Given the description of an element on the screen output the (x, y) to click on. 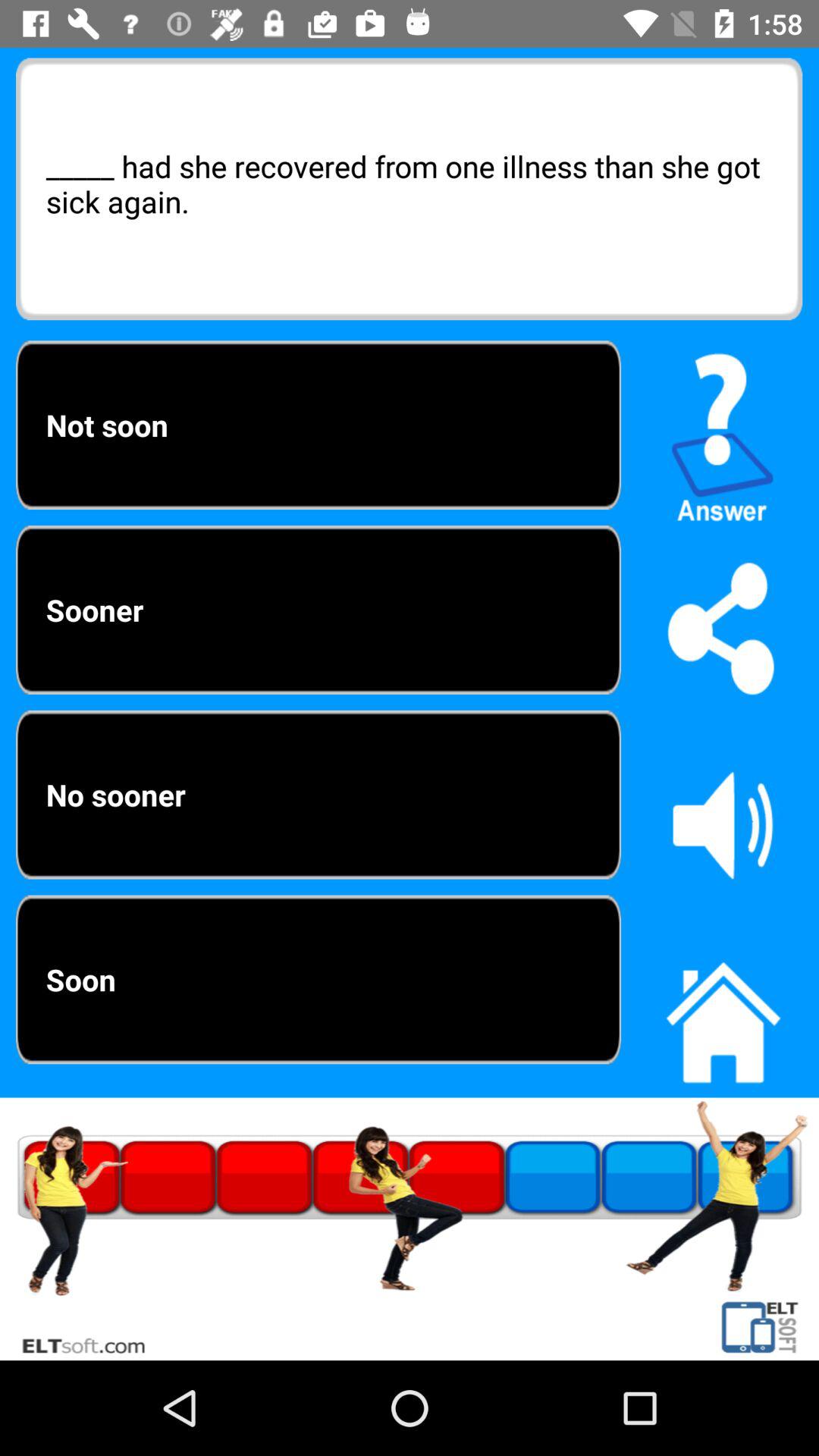
hint (723, 430)
